Given the description of an element on the screen output the (x, y) to click on. 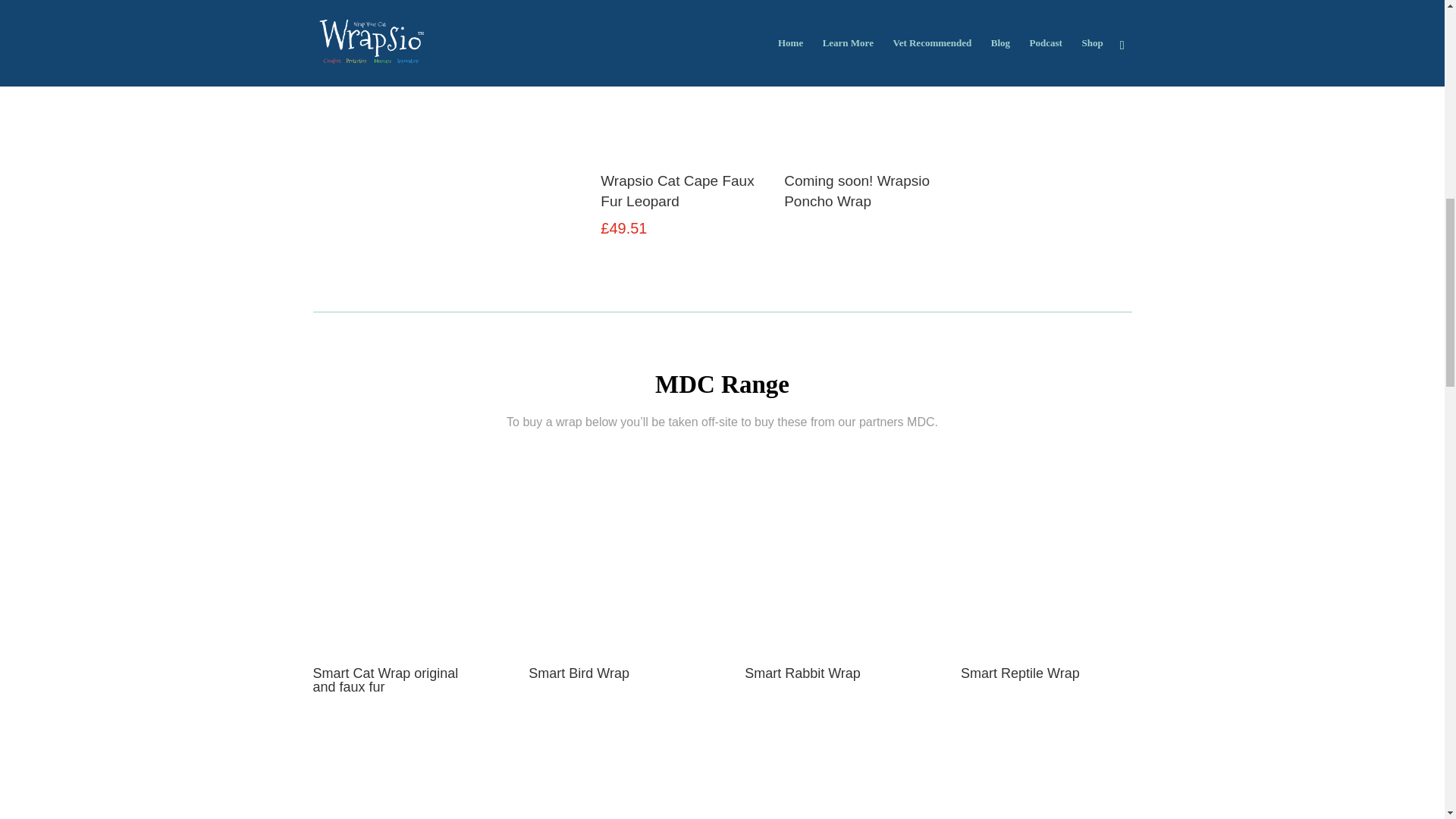
Smart Bird Wrap (578, 672)
Smart Reptile Wrap (1020, 672)
Smart Cat Wrap original and faux fur (385, 679)
Smart Rabbit Wrap (802, 672)
